Given the description of an element on the screen output the (x, y) to click on. 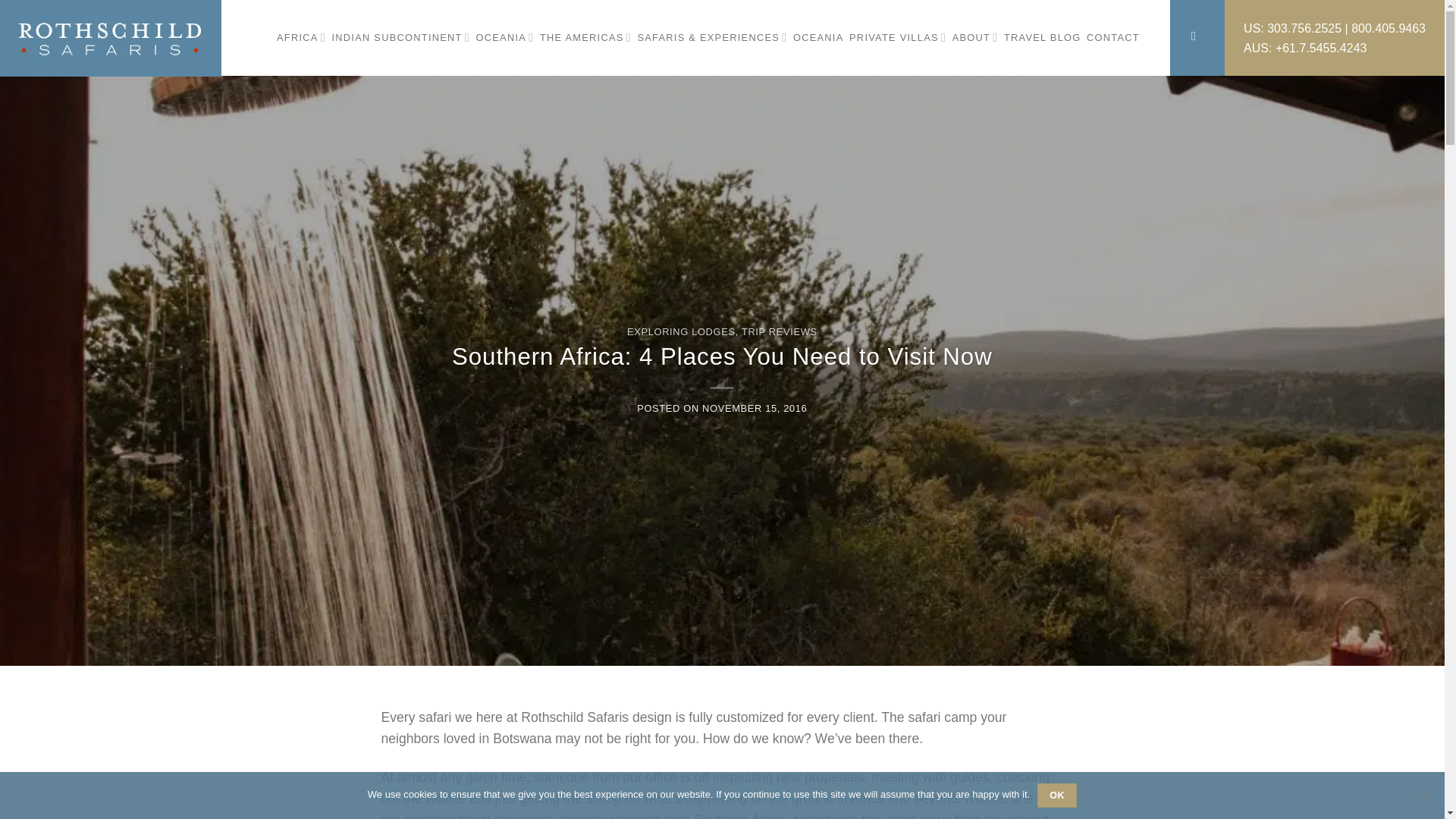
OCEANIA (505, 37)
AFRICA (301, 37)
No (1425, 795)
Rothschild Safaris (112, 38)
THE AMERICAS (585, 37)
INDIAN SUBCONTINENT (400, 37)
